Given the description of an element on the screen output the (x, y) to click on. 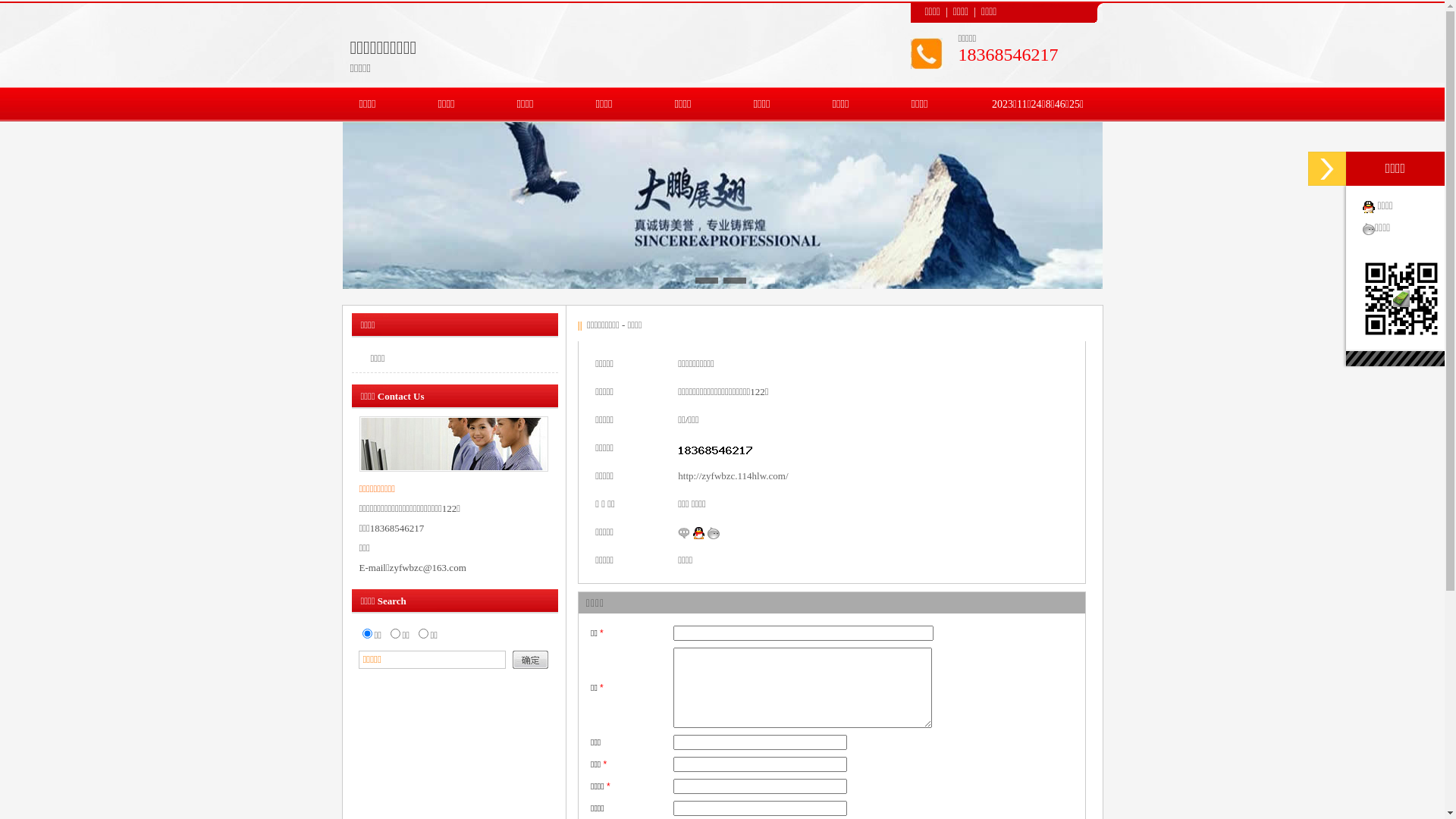
http://zyfwbzc.114hlw.com/ Element type: text (732, 475)
